Given the description of an element on the screen output the (x, y) to click on. 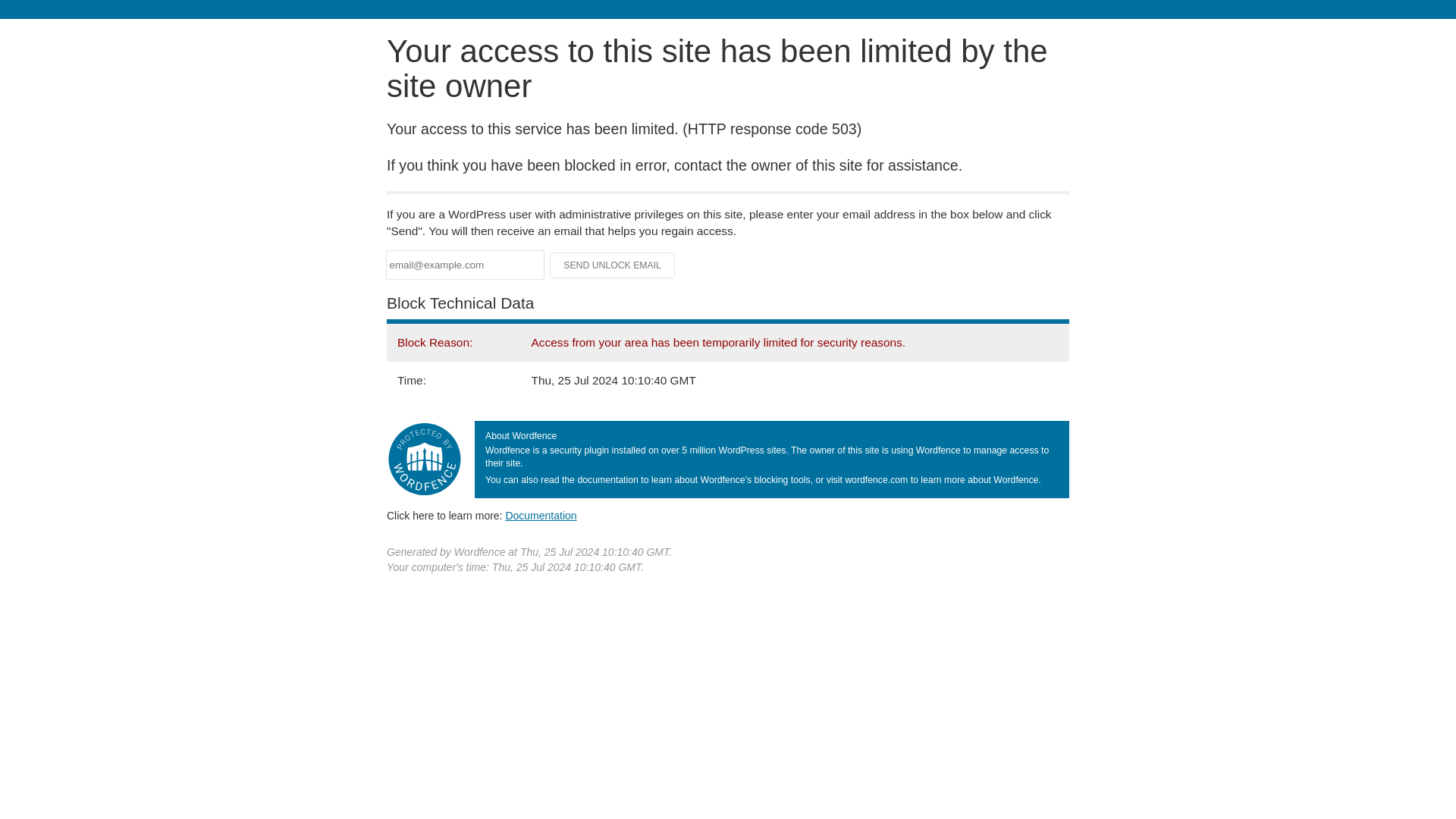
Send Unlock Email (612, 265)
Documentation (540, 515)
Send Unlock Email (612, 265)
